Given the description of an element on the screen output the (x, y) to click on. 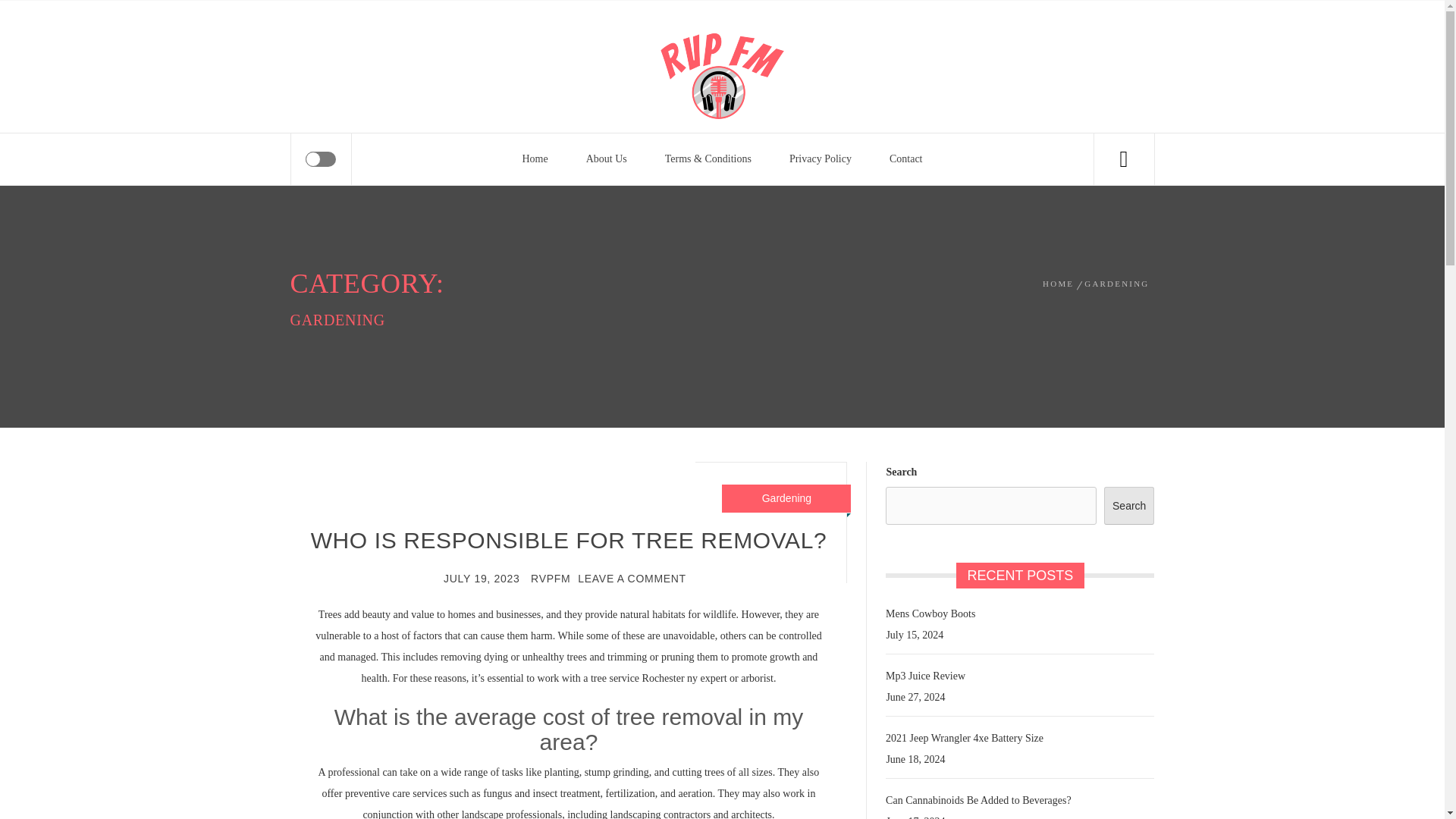
HOME (1060, 283)
WHO IS RESPONSIBLE FOR TREE REMOVAL? (569, 539)
Mp3 Juice Review (923, 676)
Home (534, 159)
LEAVE A COMMENT (631, 578)
Mens Cowboy Boots (928, 613)
Contact (906, 159)
JULY 19, 2023 (481, 578)
2021 Jeep Wrangler 4xe Battery Size (962, 738)
Search (797, 41)
RVPFM (550, 578)
Search (1128, 505)
Privacy Policy (820, 159)
Can Cannabinoids Be Added to Beverages? (976, 800)
Gardening (785, 498)
